Given the description of an element on the screen output the (x, y) to click on. 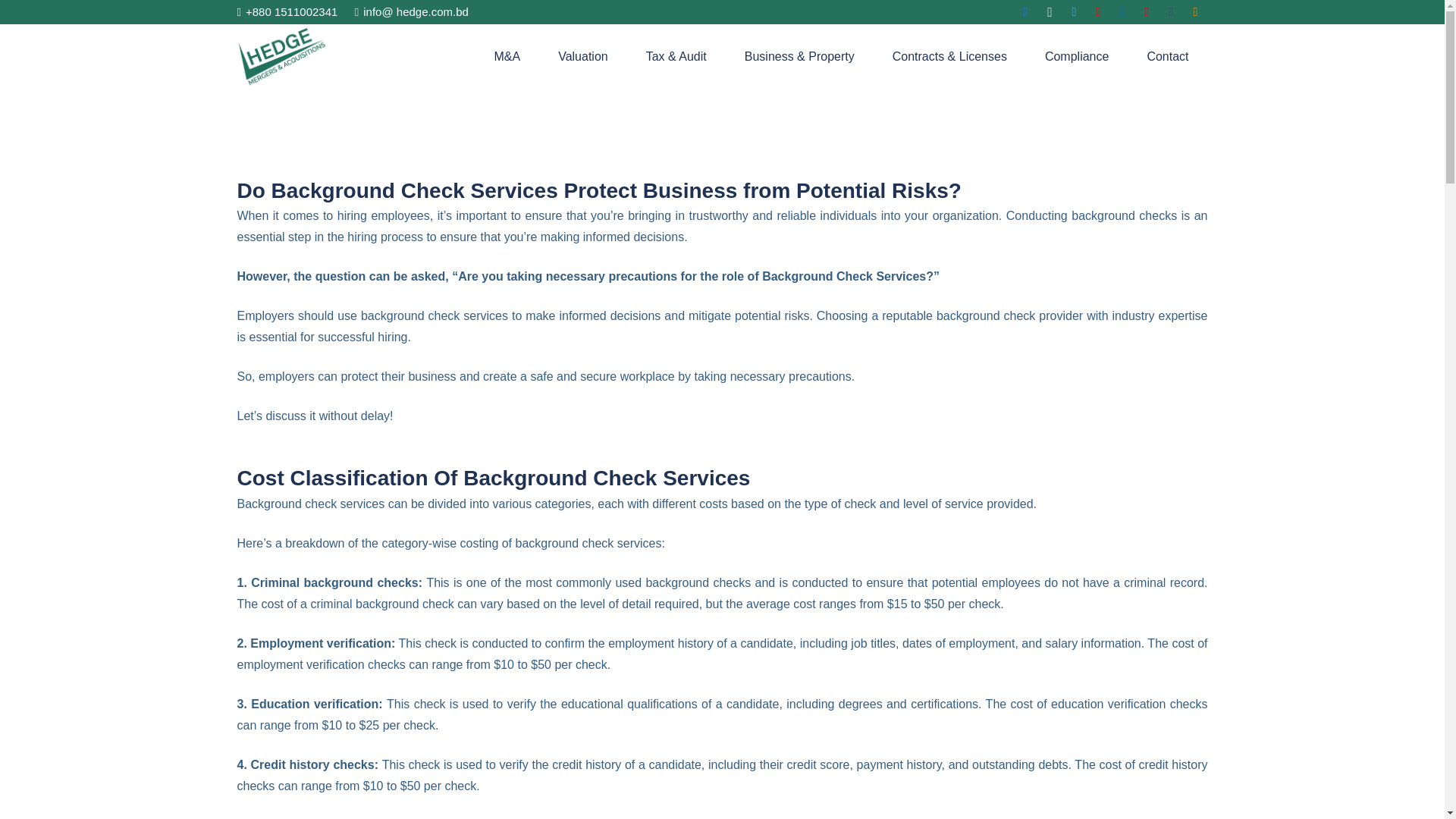
Pinterest (1146, 12)
Instagram (1048, 12)
RSS (1194, 12)
Tumblr (1170, 12)
LinkedIn (1121, 12)
Valuation (582, 56)
Facebook (1024, 12)
YouTube (1097, 12)
Twitter (1073, 12)
